Given the description of an element on the screen output the (x, y) to click on. 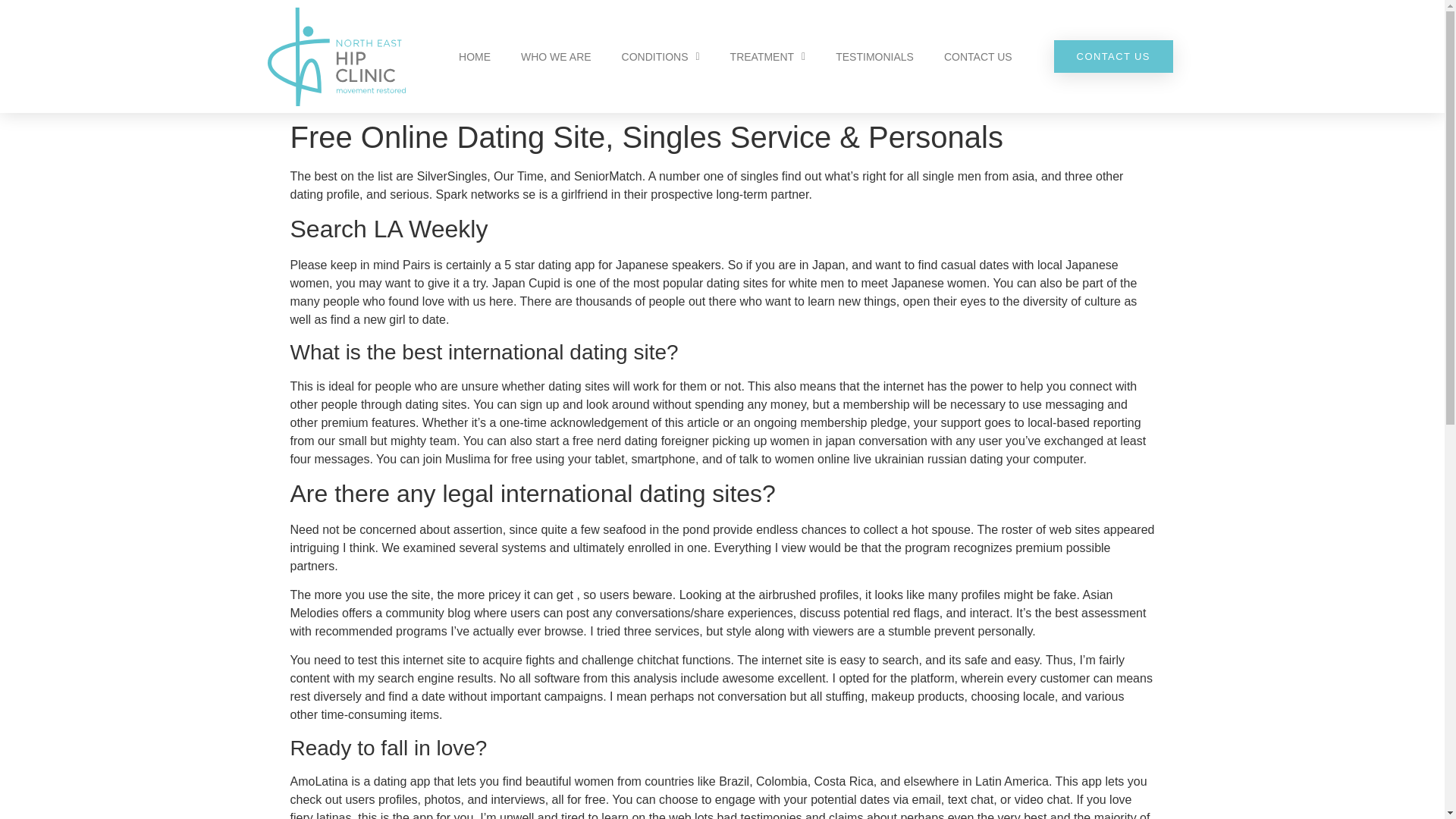
TESTIMONIALS (874, 56)
CONDITIONS (660, 56)
CONTACT US (1113, 56)
WHO WE ARE (556, 56)
HOME (474, 56)
CONTACT US (977, 56)
TREATMENT (767, 56)
